Given the description of an element on the screen output the (x, y) to click on. 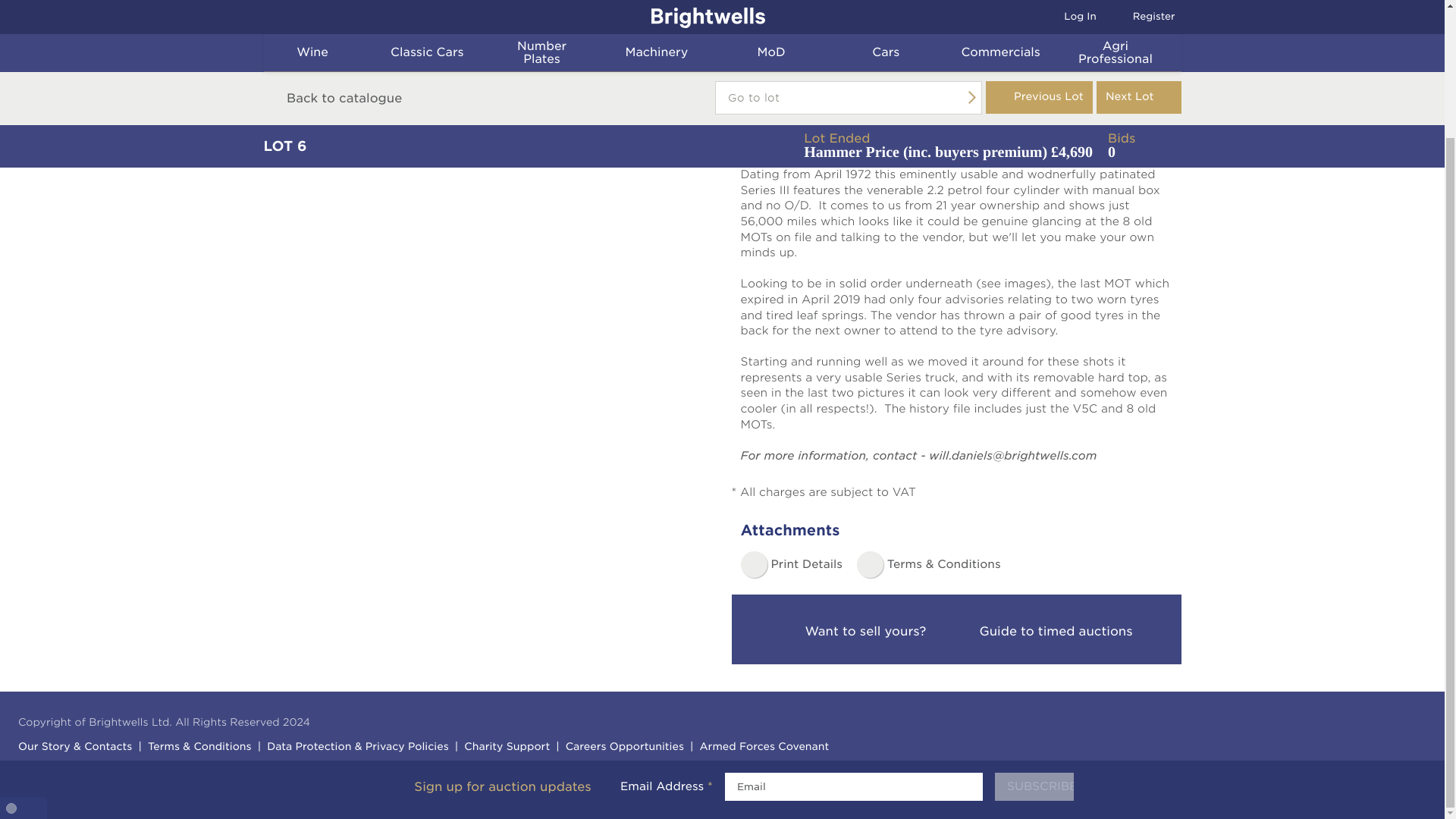
Armed Forces Covenant (762, 748)
close icon (1424, 625)
Careers Opportunities (623, 748)
Subscribe (1034, 632)
mailing list icon (389, 632)
Print details (790, 564)
Charity Support (505, 748)
